Given the description of an element on the screen output the (x, y) to click on. 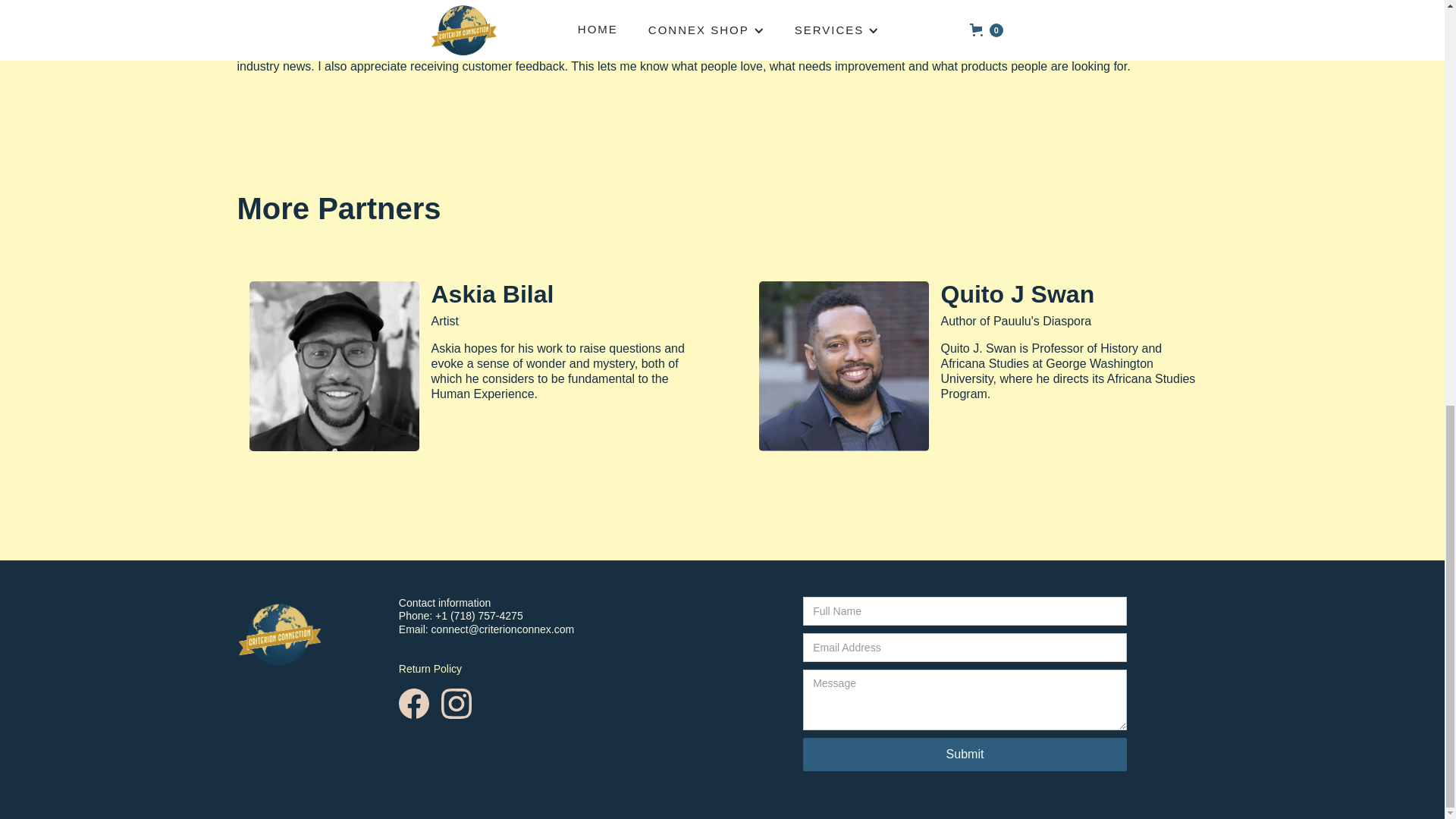
Submit (964, 754)
Return Policy (429, 668)
Submit (964, 754)
